Given the description of an element on the screen output the (x, y) to click on. 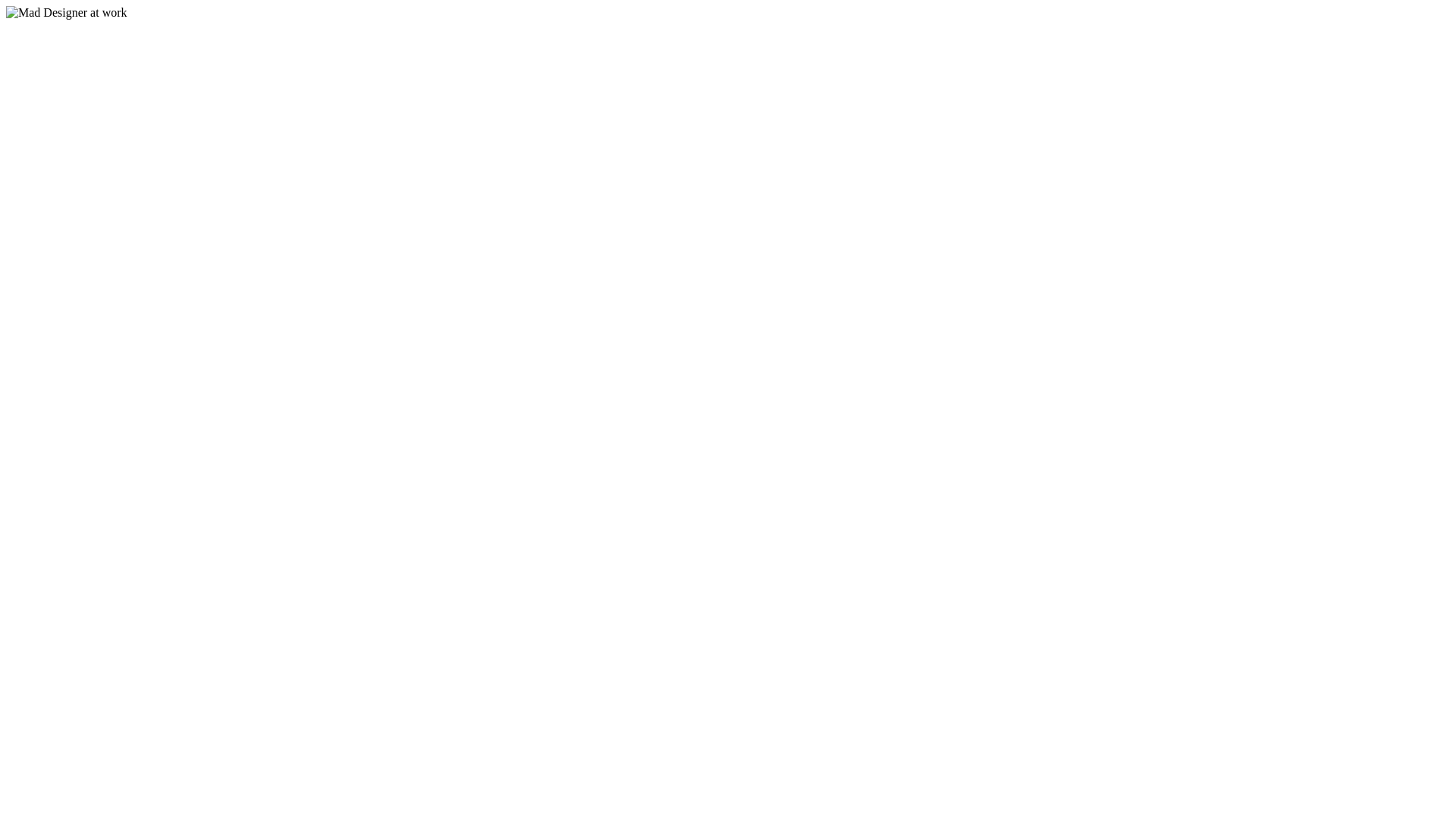
Mad Designer at work Element type: hover (66, 12)
